Given the description of an element on the screen output the (x, y) to click on. 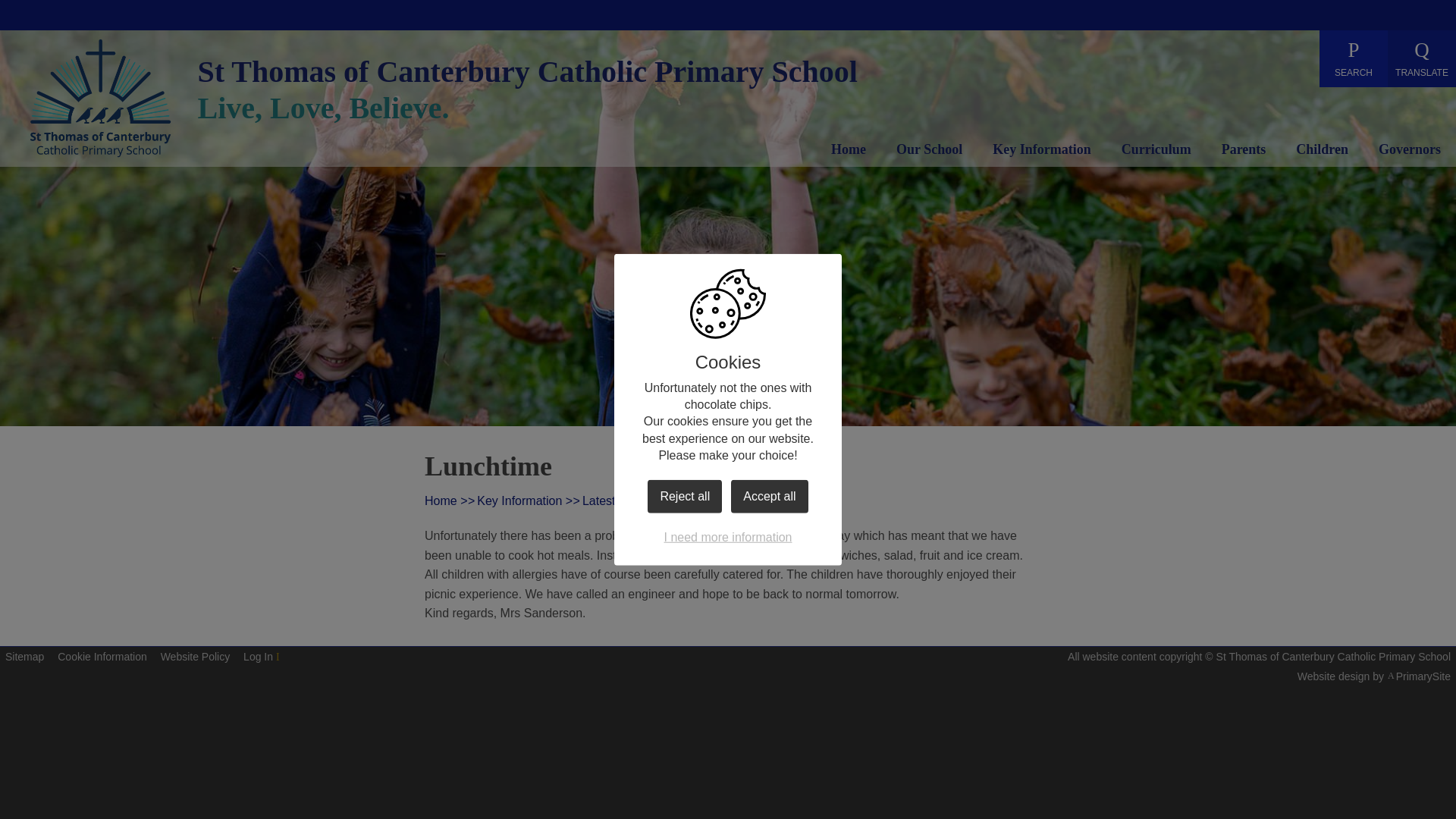
Key Information (1041, 152)
Home (848, 152)
Our School (929, 152)
Home Page (100, 97)
